Given the description of an element on the screen output the (x, y) to click on. 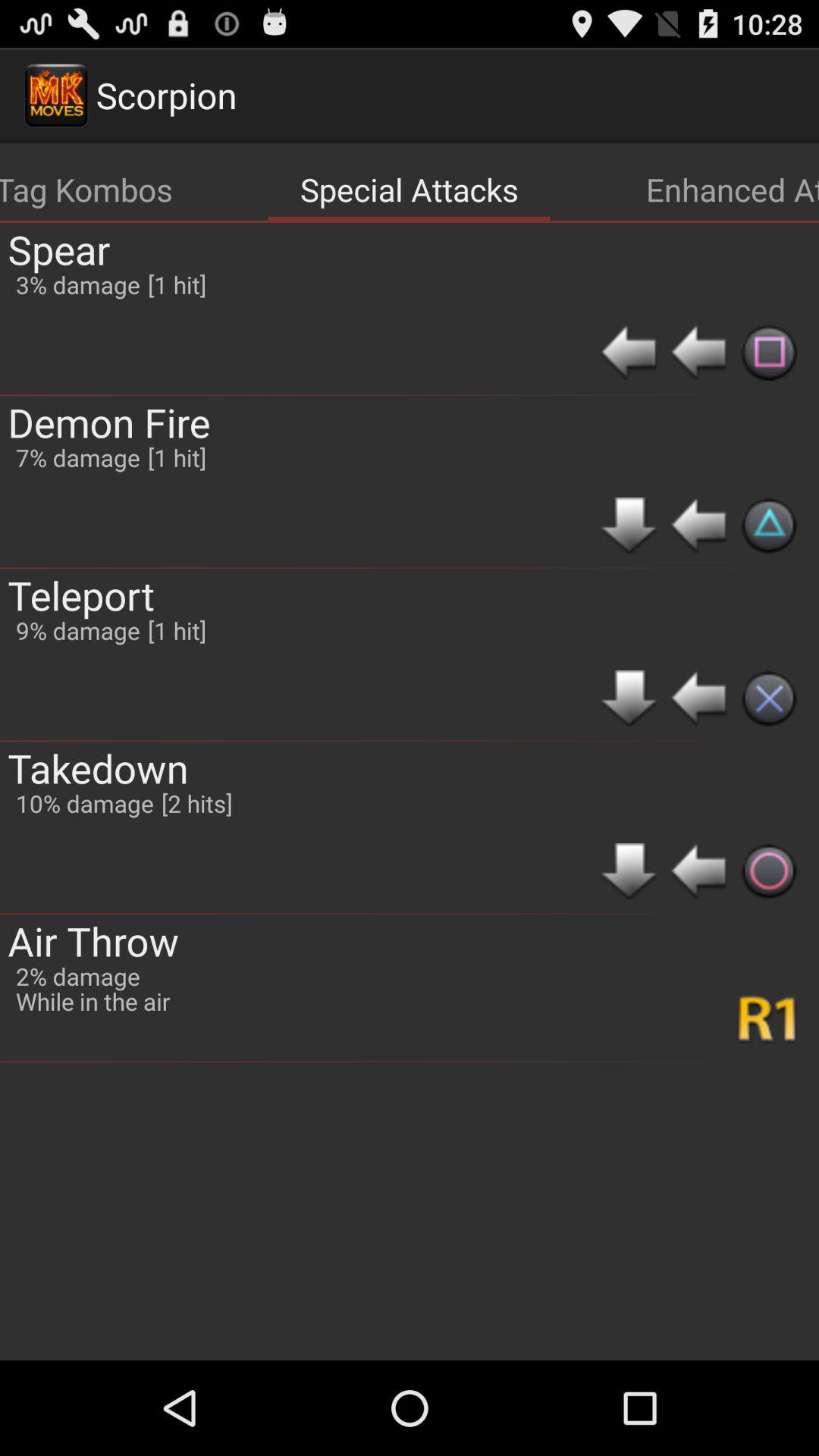
launch app above teleport app (108, 421)
